Given the description of an element on the screen output the (x, y) to click on. 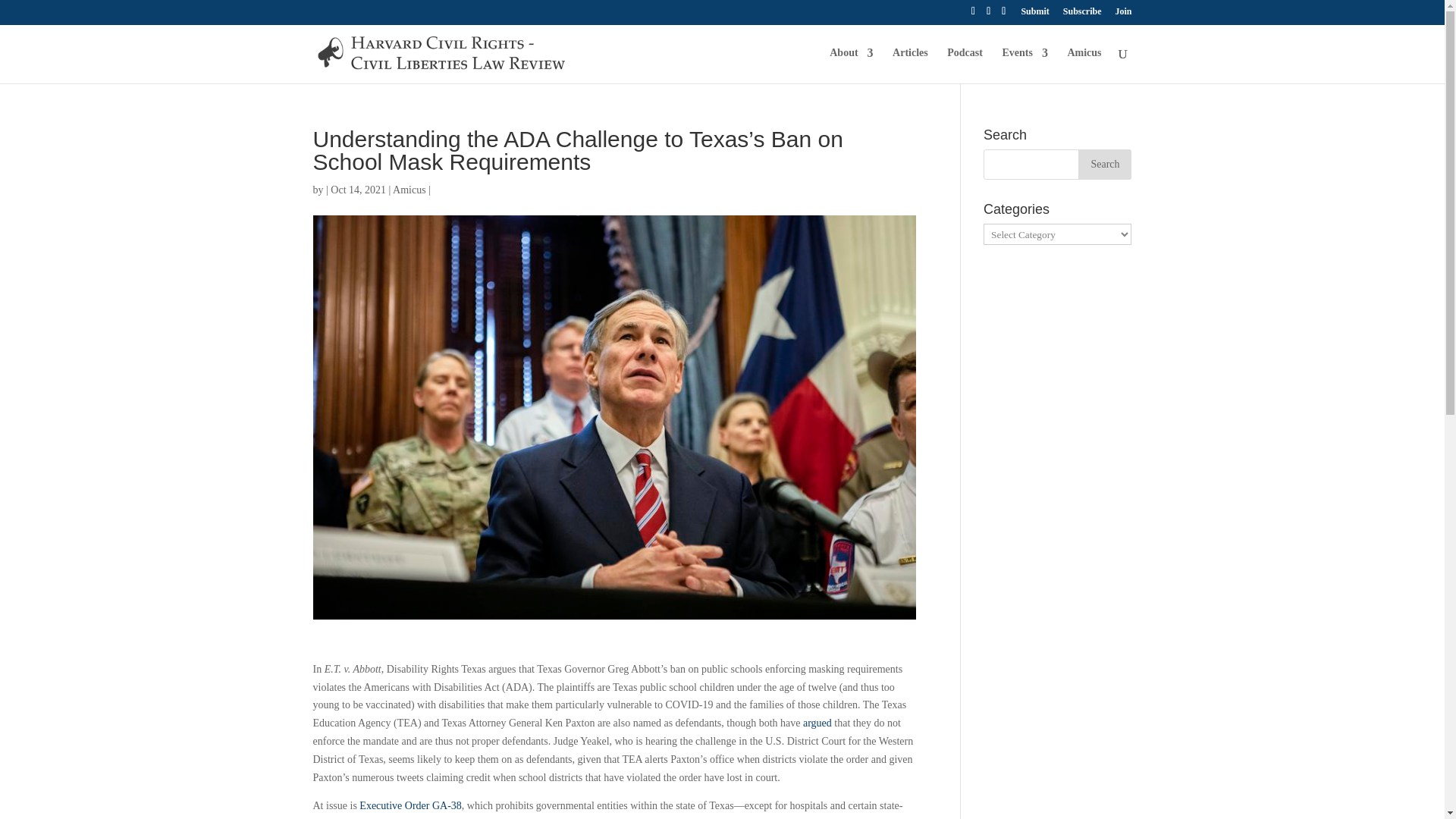
Submit (1034, 14)
Subscribe (1082, 14)
About (850, 65)
Join (1123, 14)
Executive Order GA-38 (410, 805)
Search (1104, 164)
Podcast (964, 65)
Events (1023, 65)
argued (817, 722)
Amicus (409, 189)
